Given the description of an element on the screen output the (x, y) to click on. 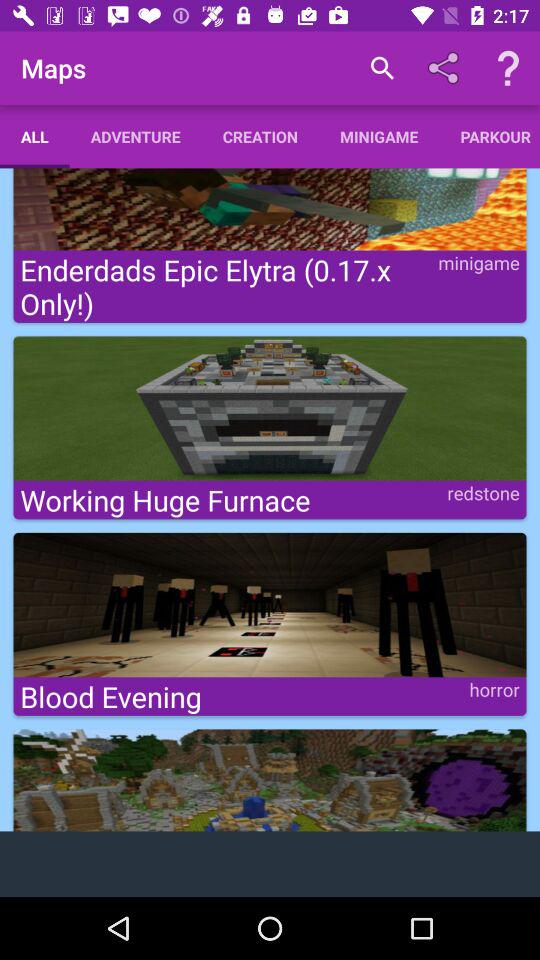
flip to adventure icon (135, 136)
